Given the description of an element on the screen output the (x, y) to click on. 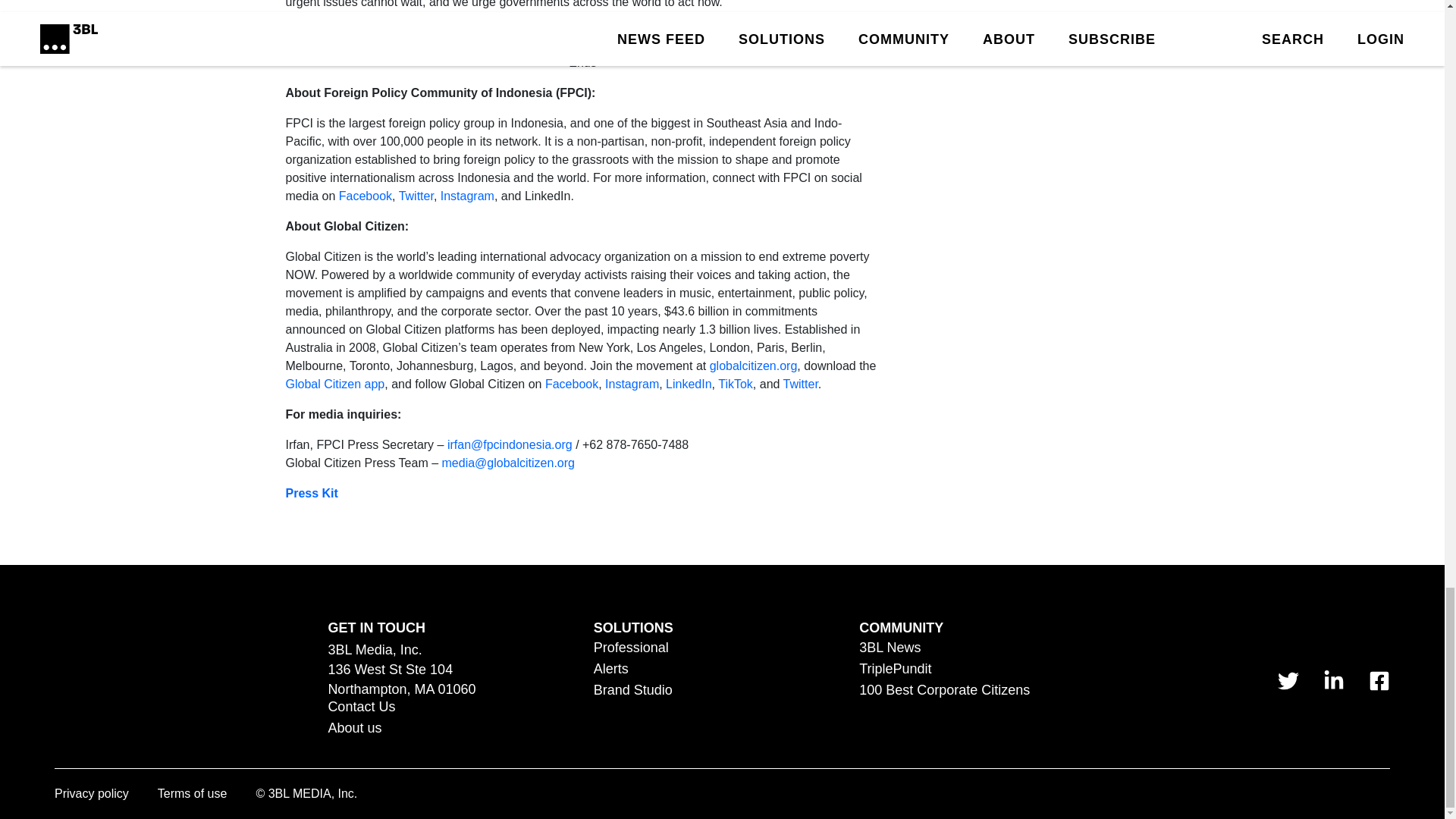
link to 3 B L Media's Linkedin (1333, 680)
link to 3 B L Media's Facebook (1379, 680)
link to 3 B L Media's Twitter (1288, 680)
